Given the description of an element on the screen output the (x, y) to click on. 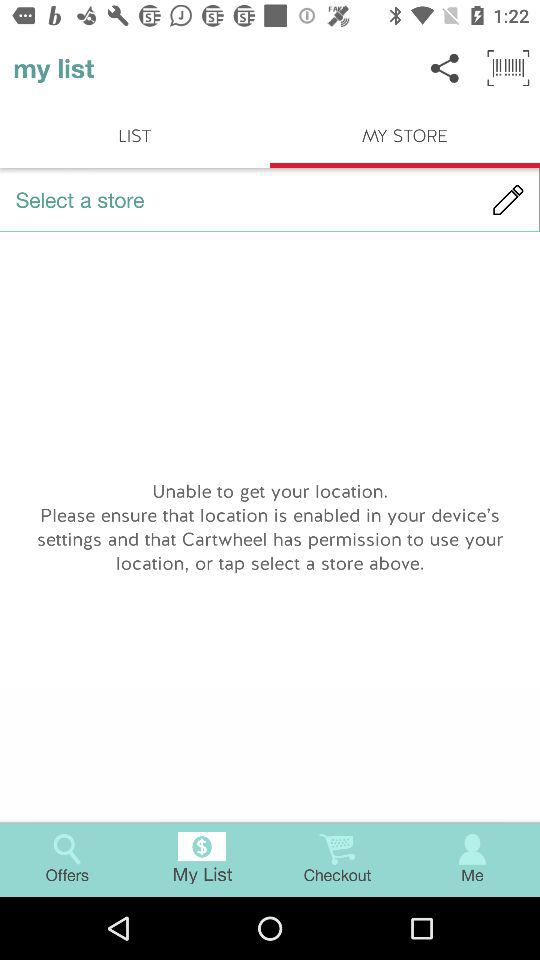
choose item next to the my list icon (444, 67)
